Given the description of an element on the screen output the (x, y) to click on. 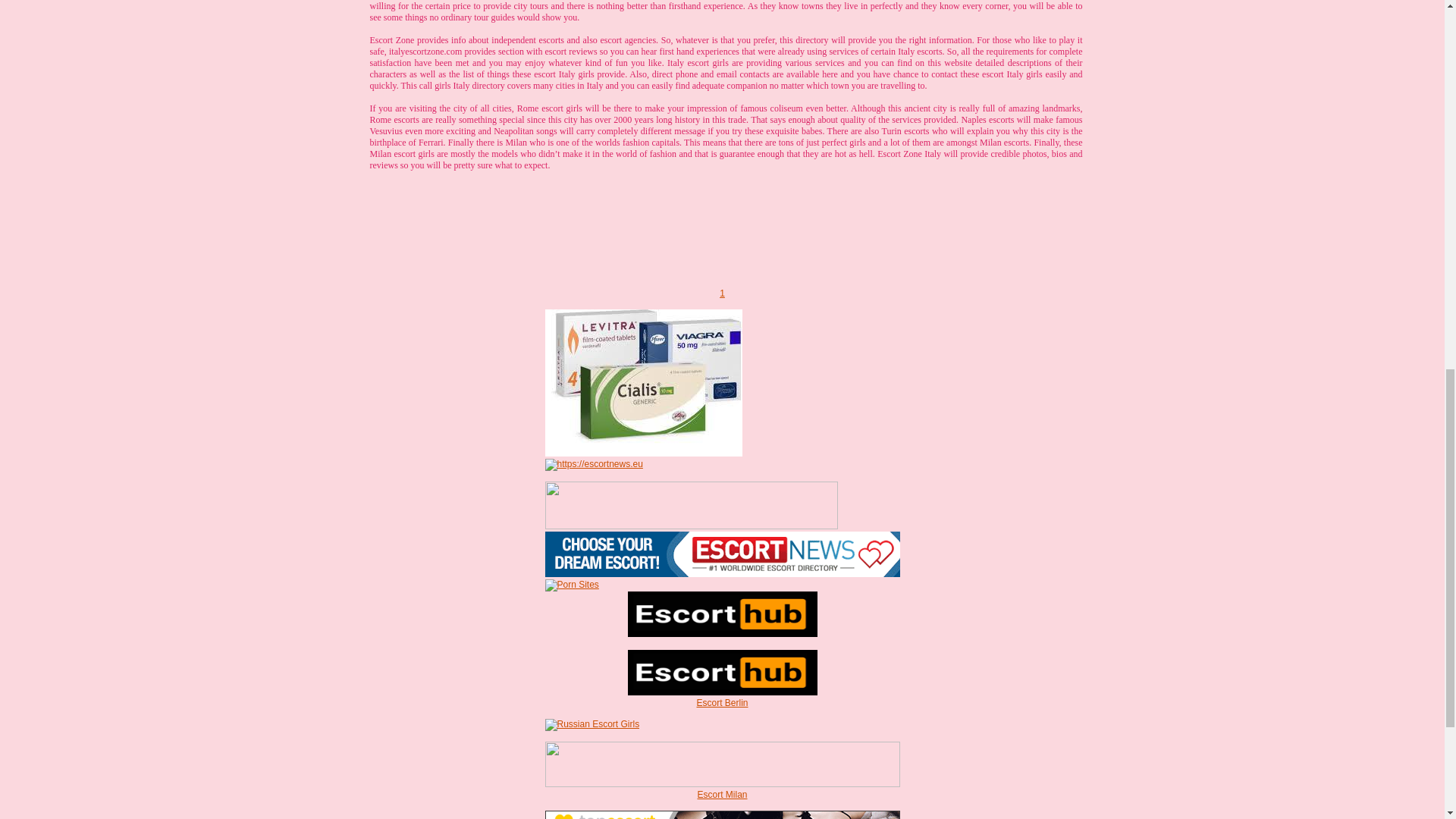
Escort Berlin (721, 673)
Escort Milan (721, 783)
Escorts near me (721, 573)
Porn Sites List (571, 584)
Russian escort (591, 724)
